Given the description of an element on the screen output the (x, y) to click on. 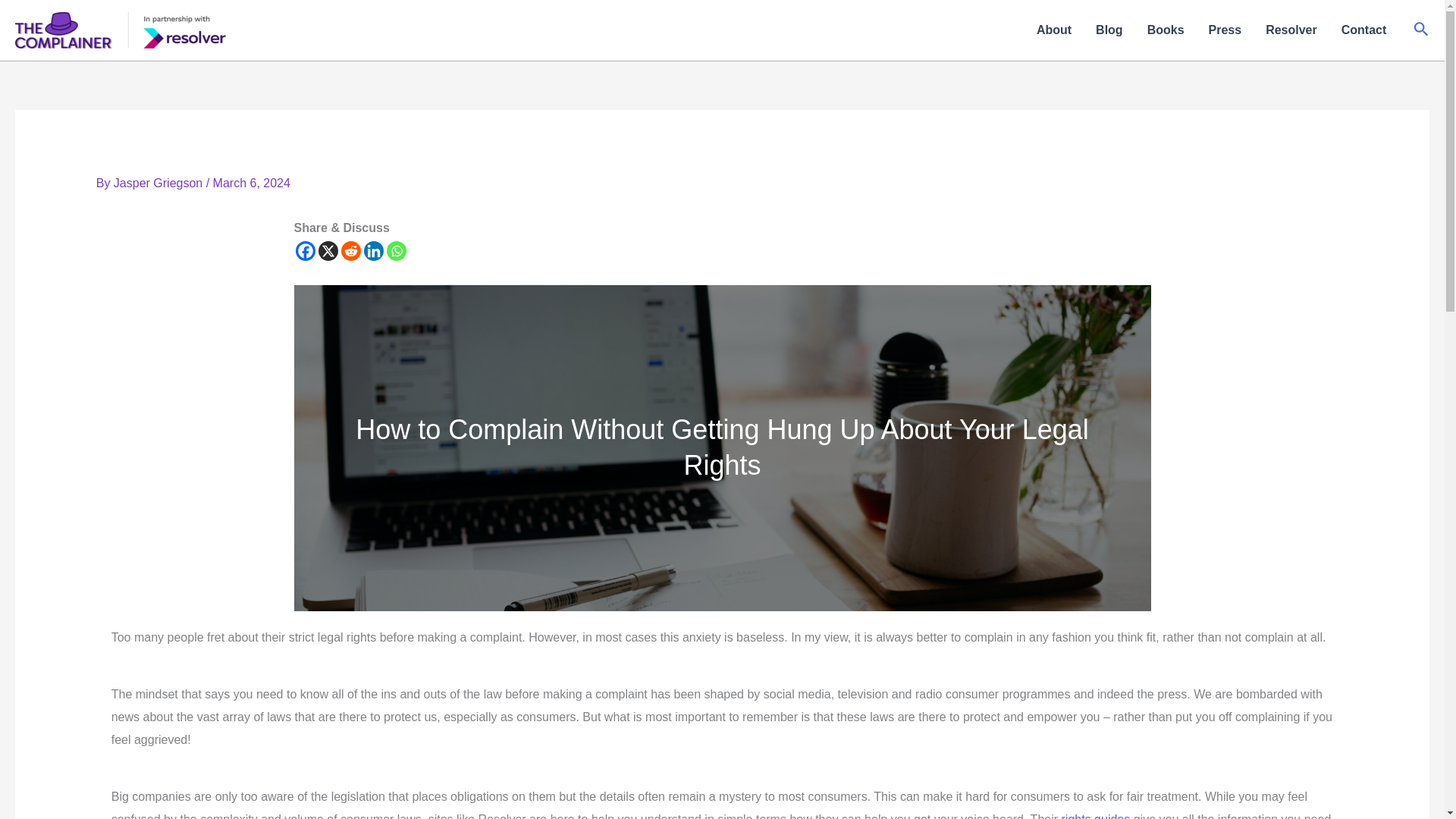
Facebook (305, 250)
Resolver (1291, 30)
Jasper Griegson (159, 182)
Books (1165, 30)
Press (1224, 30)
Whatsapp (396, 250)
Reddit (350, 250)
View all posts by Jasper Griegson (159, 182)
Contact (1364, 30)
Linkedin (374, 250)
